Given the description of an element on the screen output the (x, y) to click on. 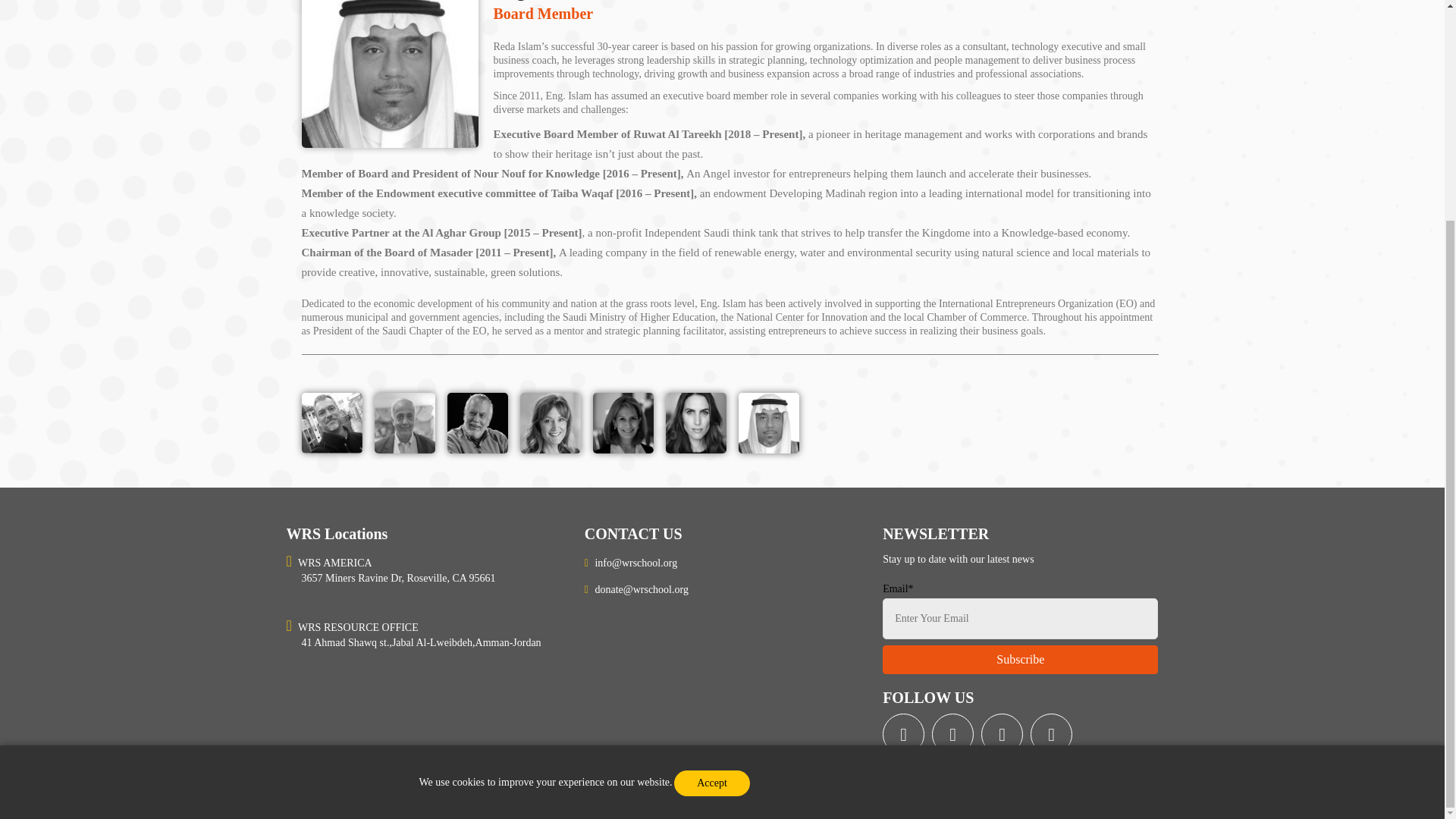
Subscribe (1019, 659)
